Given the description of an element on the screen output the (x, y) to click on. 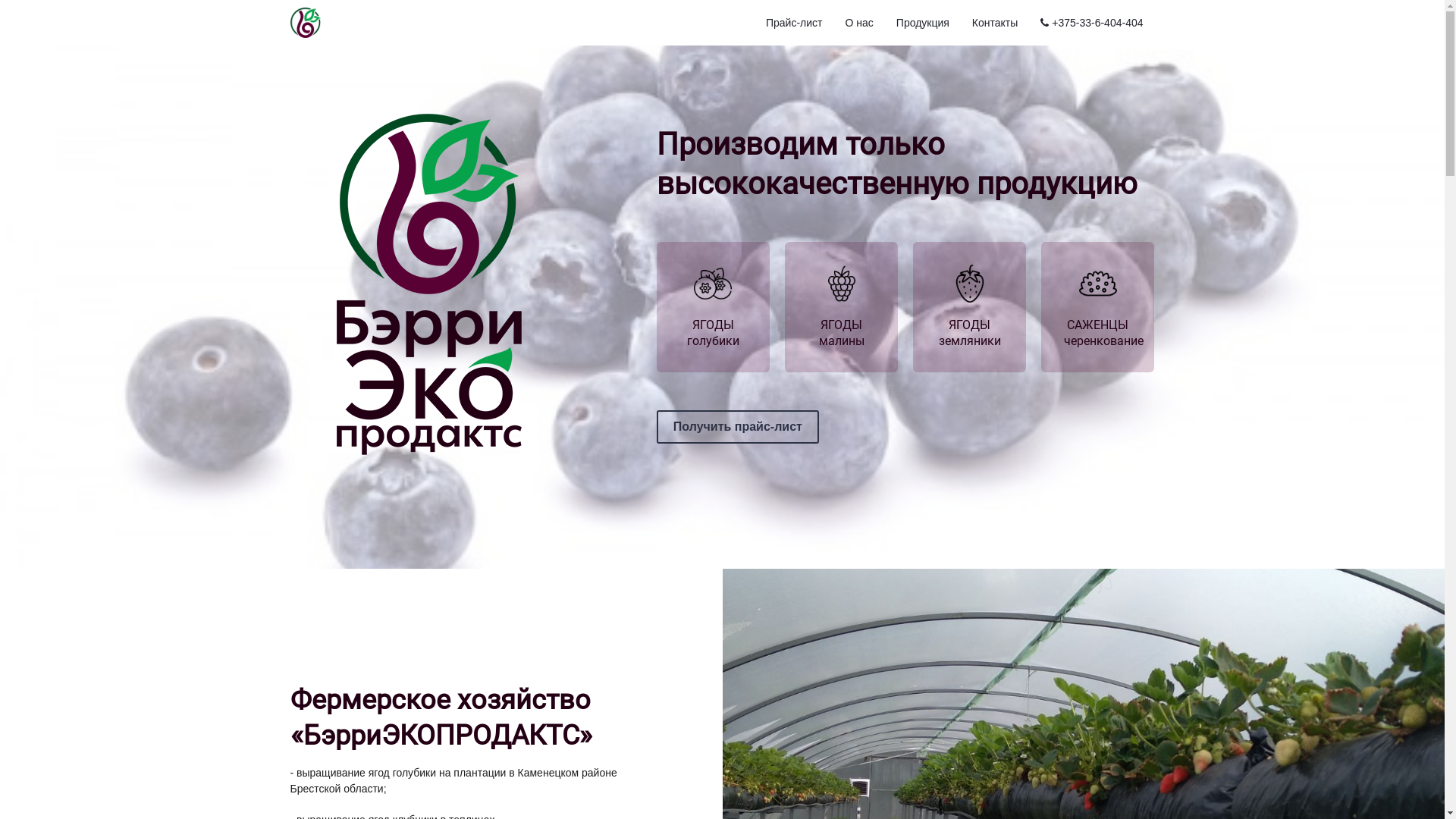
+375-33-6-404-404 Element type: text (1091, 22)
